Given the description of an element on the screen output the (x, y) to click on. 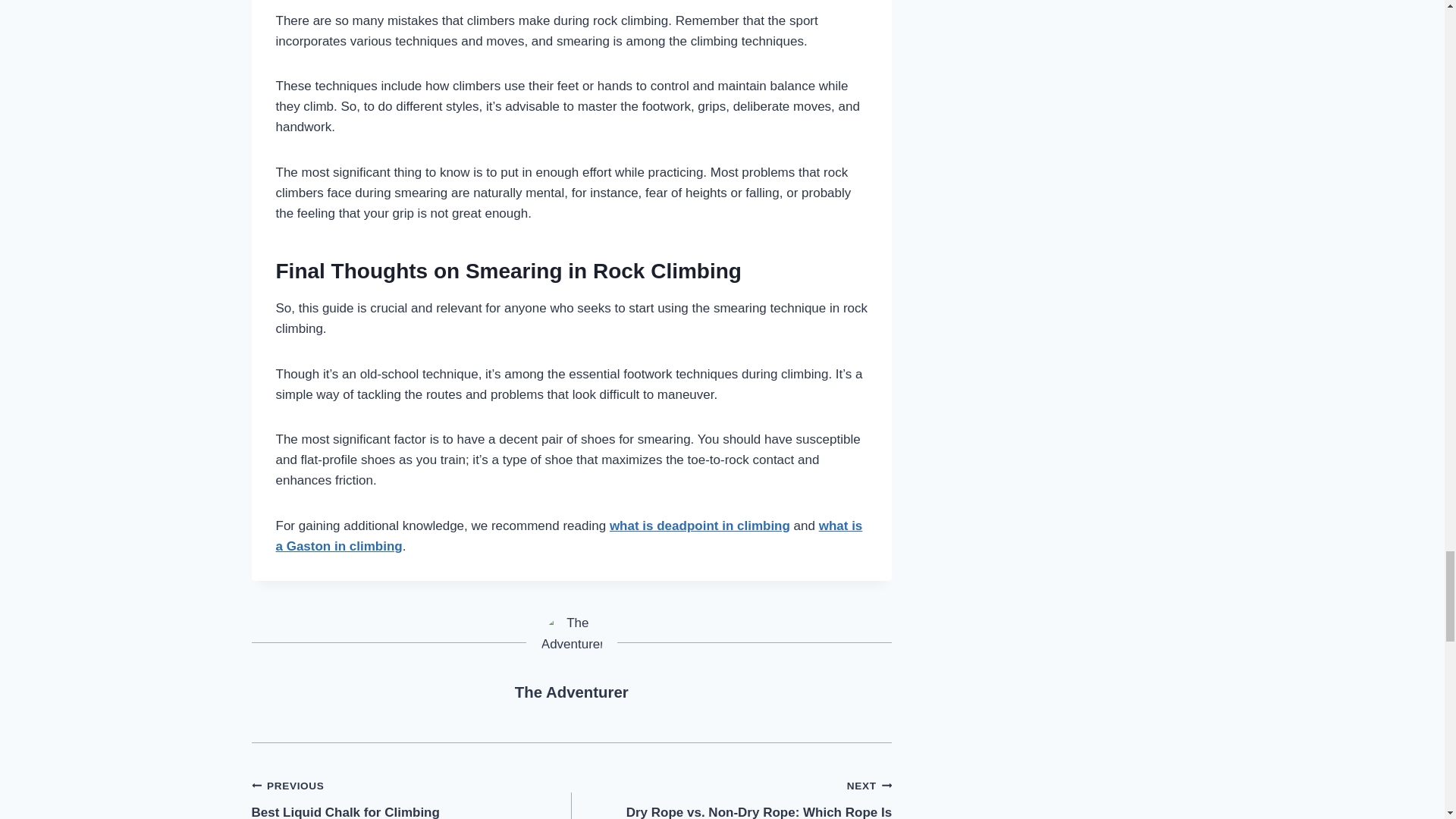
Posts by The Adventurer (411, 796)
what is a Gaston in climbing (571, 692)
The Adventurer (569, 535)
what is deadpoint in climbing (571, 692)
